Given the description of an element on the screen output the (x, y) to click on. 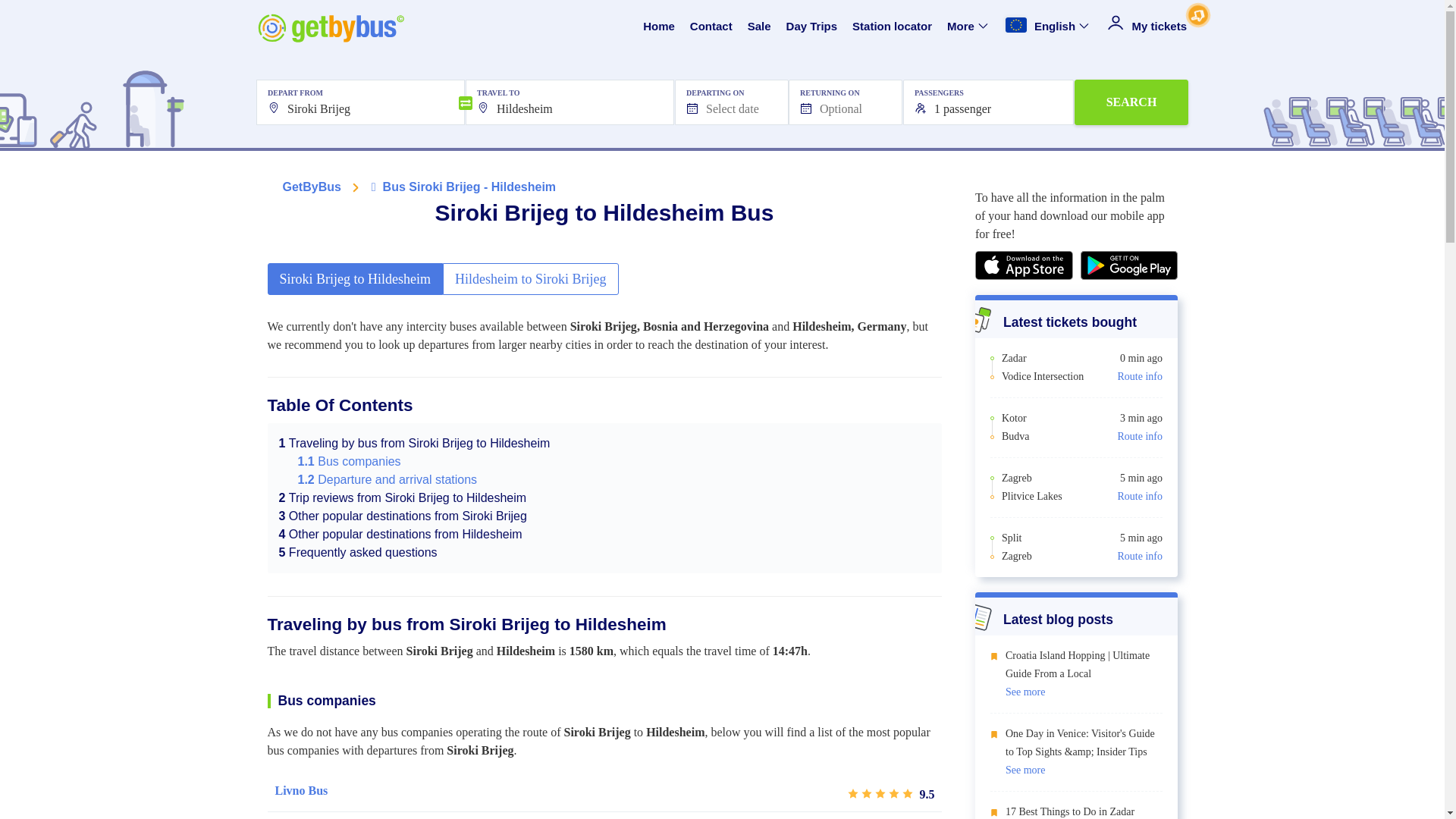
Bus companies (348, 461)
Trip reviews from Siroki Brijeg to Hildesheim (403, 497)
1 passenger (988, 102)
SEARCH (1131, 102)
Livno Bus (301, 791)
Traveling by bus from Siroki Brijeg to Hildesheim (414, 442)
Day Trips (812, 26)
 My tickets (1146, 26)
Departure and arrival stations (387, 479)
 GetByBus (311, 186)
Station locator (891, 26)
Other popular destinations from Siroki Brijeg (403, 515)
English (1048, 26)
GetByBus (311, 186)
Siroki Brijeg (360, 102)
